Given the description of an element on the screen output the (x, y) to click on. 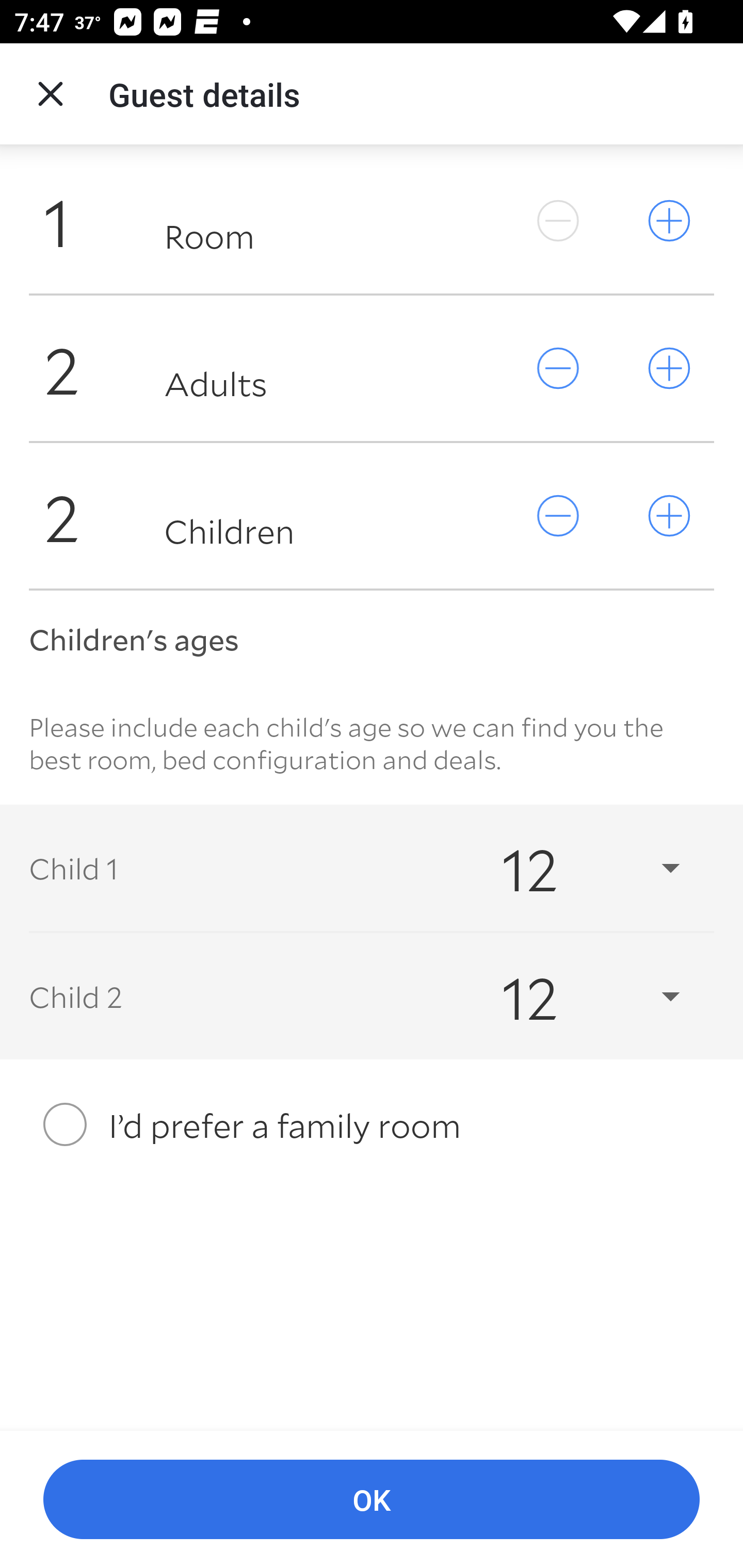
12 (573, 867)
12 (573, 996)
I’d prefer a family room (371, 1124)
OK (371, 1499)
